Given the description of an element on the screen output the (x, y) to click on. 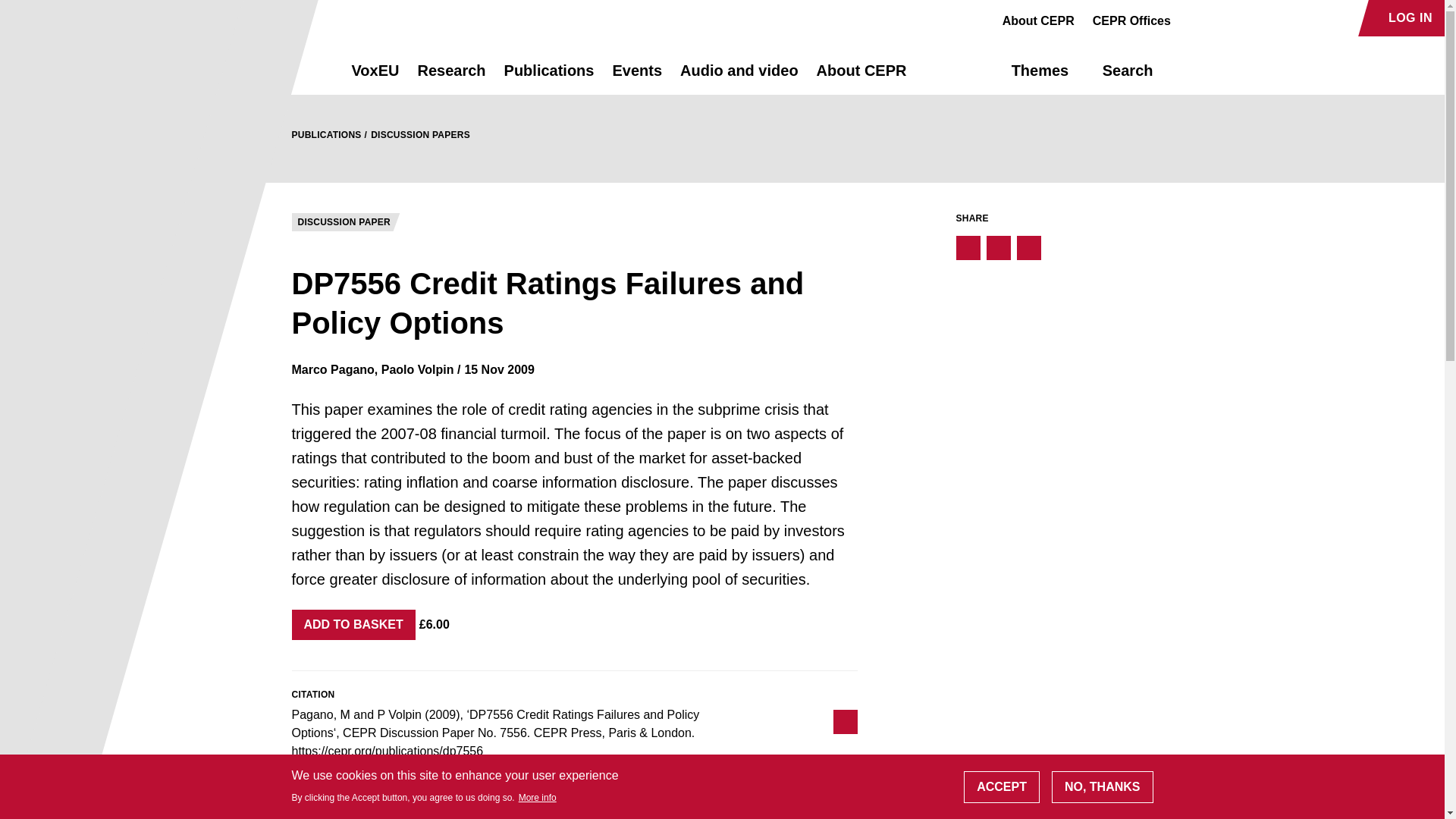
Events (636, 77)
Publications (548, 77)
Audio and video (738, 77)
Research (450, 77)
Go to Audioboom profile (1217, 17)
Go to Linkedin profile (1243, 18)
VoxEU (375, 77)
Return to the homepage (293, 69)
Add to basket (352, 624)
Go to Facebook profile (1190, 17)
